Given the description of an element on the screen output the (x, y) to click on. 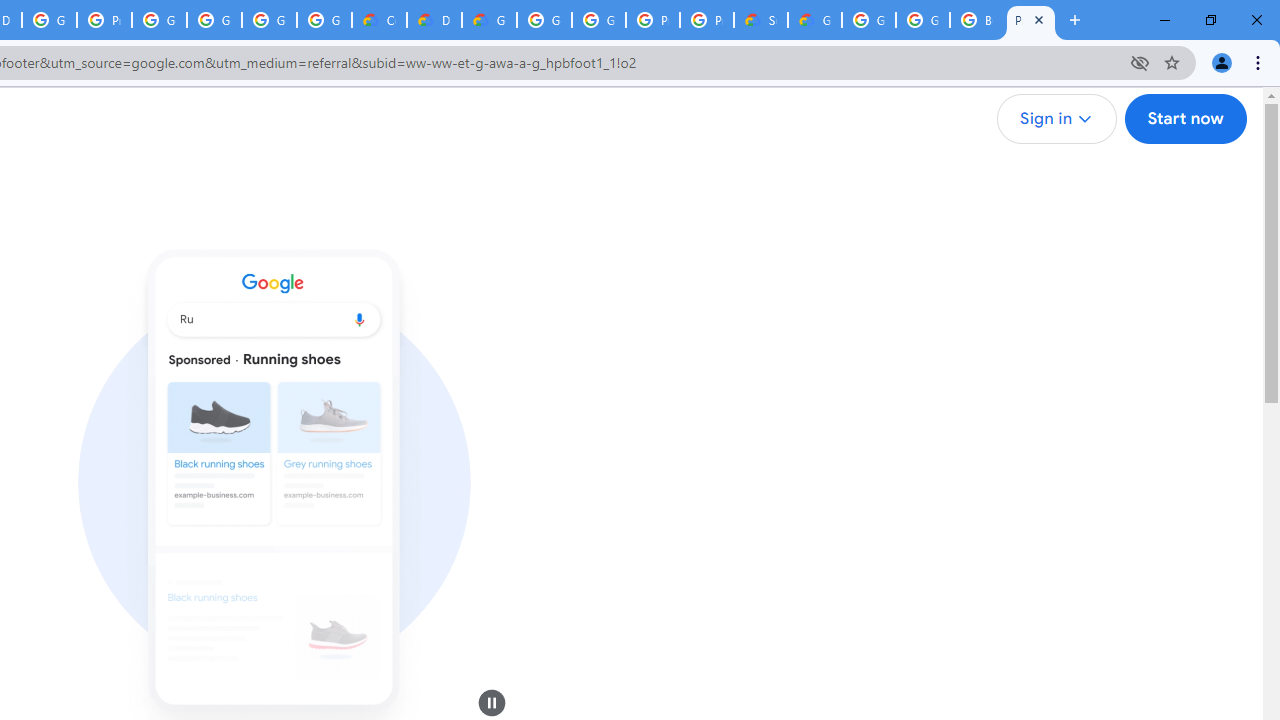
Google Cloud Service Health (815, 20)
Google Cloud Platform (598, 20)
Google Cloud Platform (922, 20)
Google Cloud Platform (868, 20)
Google Cloud Platform (544, 20)
